Given the description of an element on the screen output the (x, y) to click on. 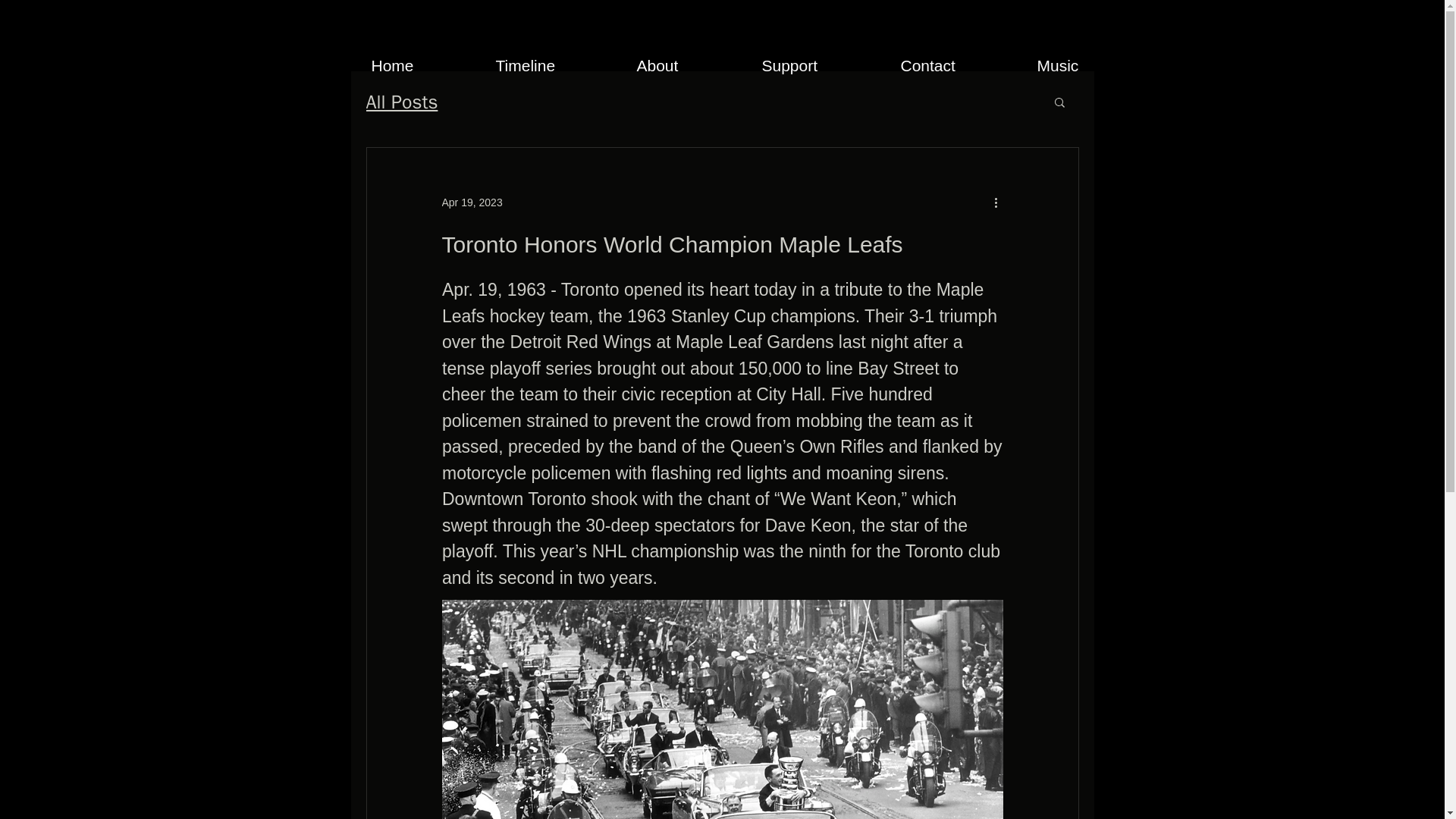
Timeline (553, 65)
All Posts (401, 101)
Apr 19, 2023 (471, 201)
Support (820, 65)
Home (421, 65)
Contact (956, 65)
About (686, 65)
Music (1085, 65)
